Given the description of an element on the screen output the (x, y) to click on. 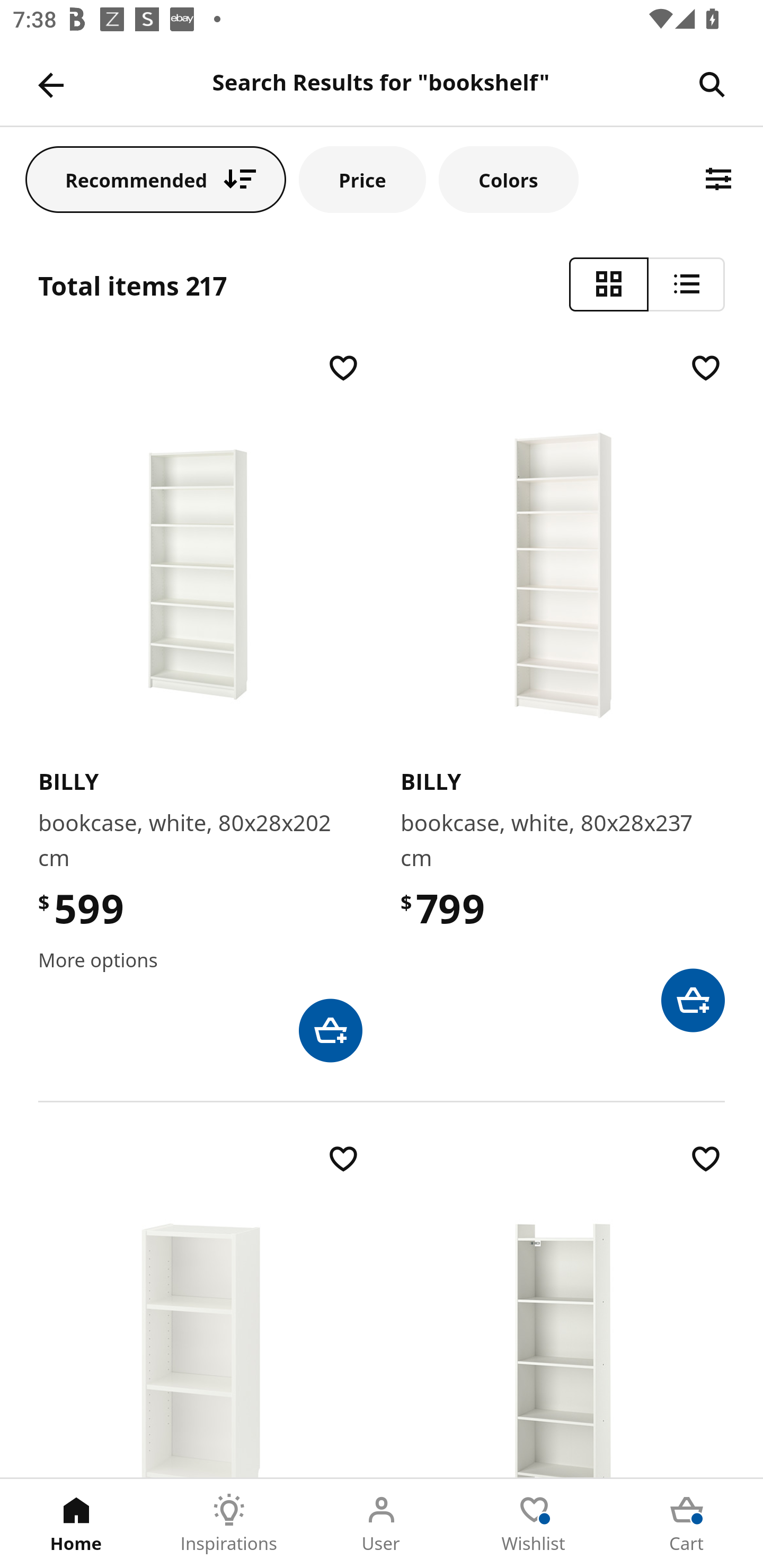
Recommended (155, 179)
Price (362, 179)
Colors (508, 179)
​B​I​L​L​Y​
bookcase, white, 80x28x237 cm
$
799 (562, 690)
​B​I​L​L​Y​
bookcase, white, 40x28x106 cm
$
279 (200, 1308)
Home
Tab 1 of 5 (76, 1522)
Inspirations
Tab 2 of 5 (228, 1522)
User
Tab 3 of 5 (381, 1522)
Wishlist
Tab 4 of 5 (533, 1522)
Cart
Tab 5 of 5 (686, 1522)
